Given the description of an element on the screen output the (x, y) to click on. 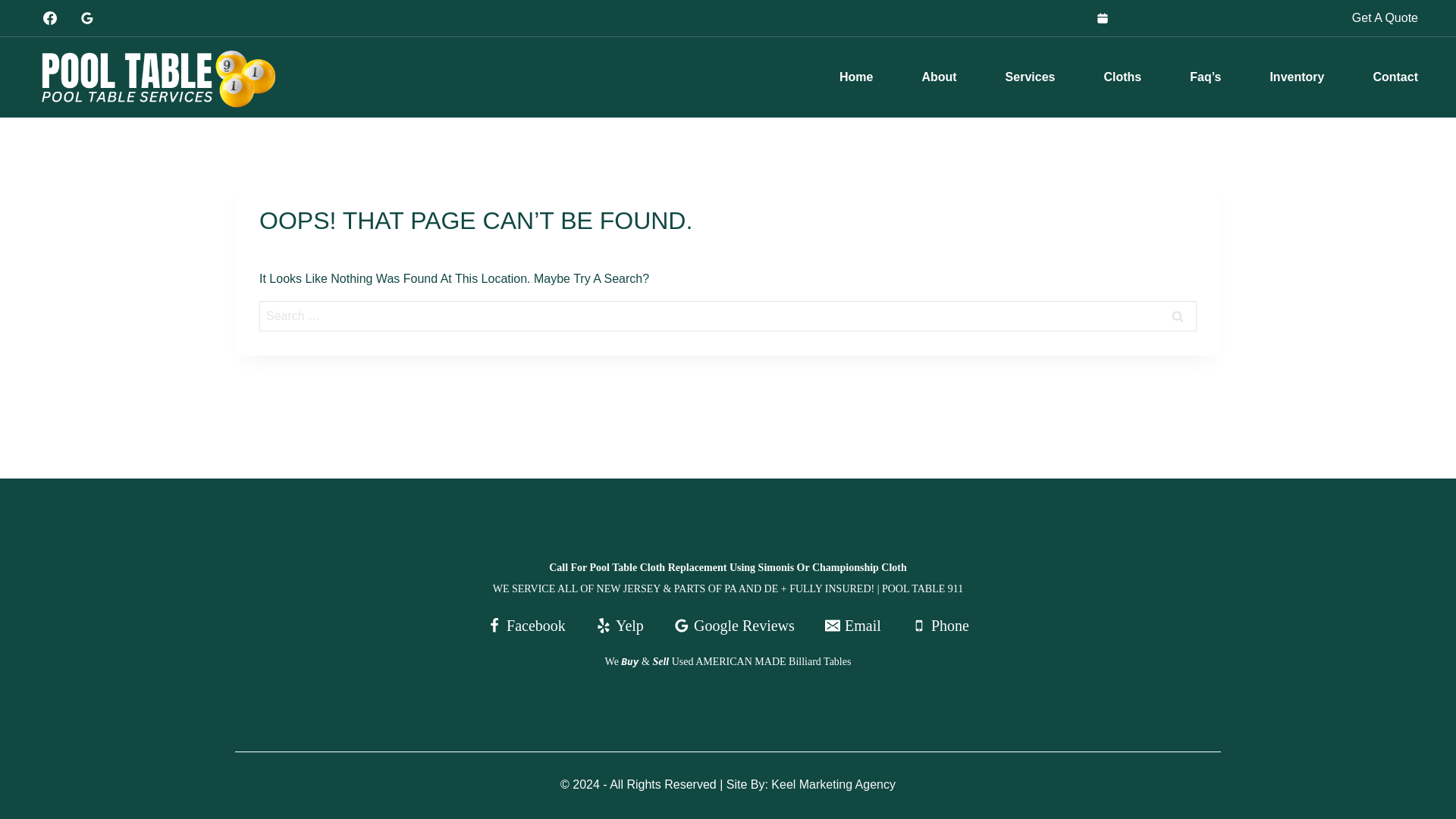
Inventory (1296, 76)
Search (1177, 316)
Facebook (526, 625)
Yelp (619, 625)
Google Reviews (734, 625)
Keel Marketing Agency (833, 784)
Get A Quote (1385, 17)
Phone (940, 625)
Services (1030, 76)
Email (852, 625)
